Given the description of an element on the screen output the (x, y) to click on. 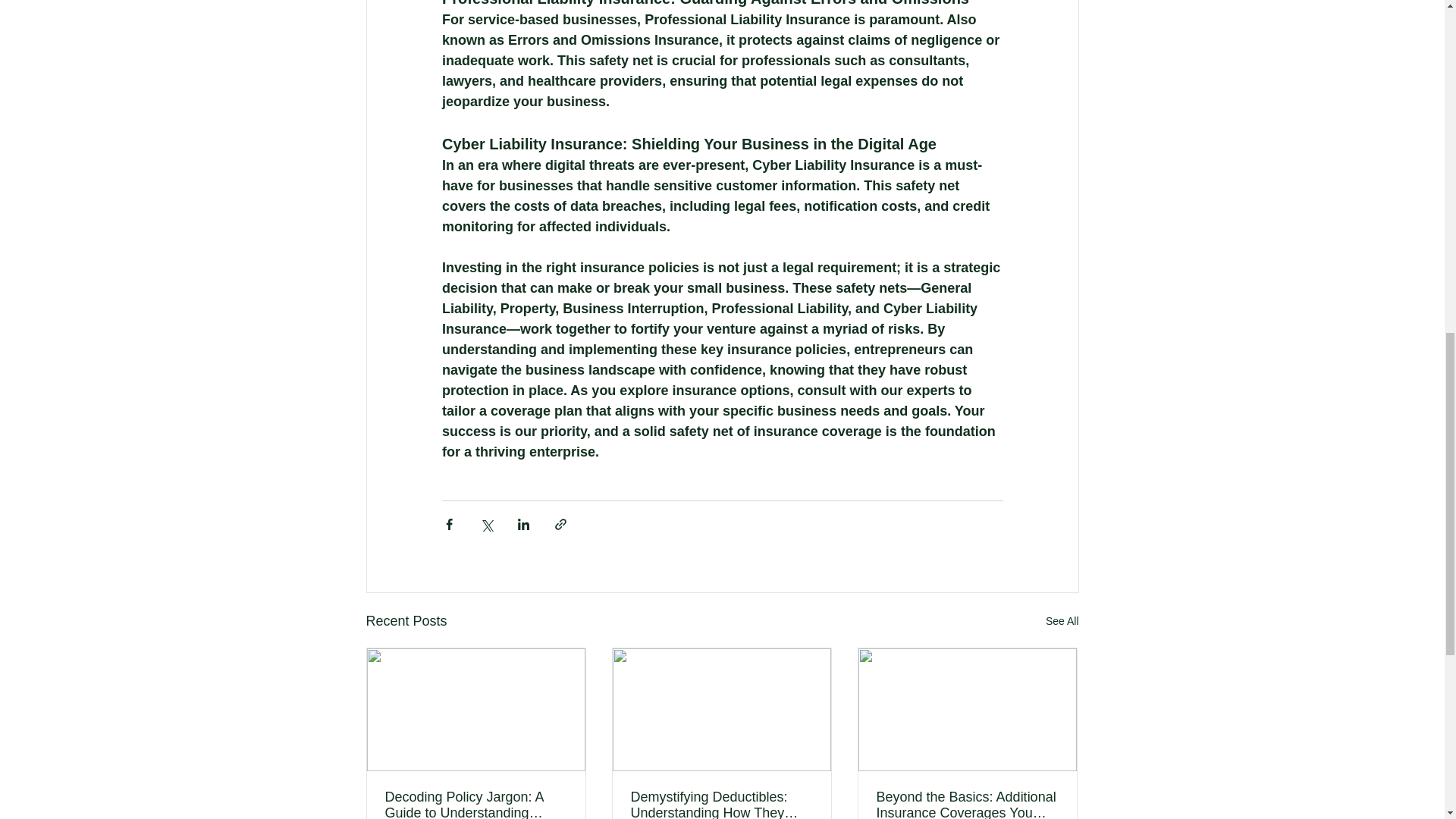
See All (1061, 621)
